Given the description of an element on the screen output the (x, y) to click on. 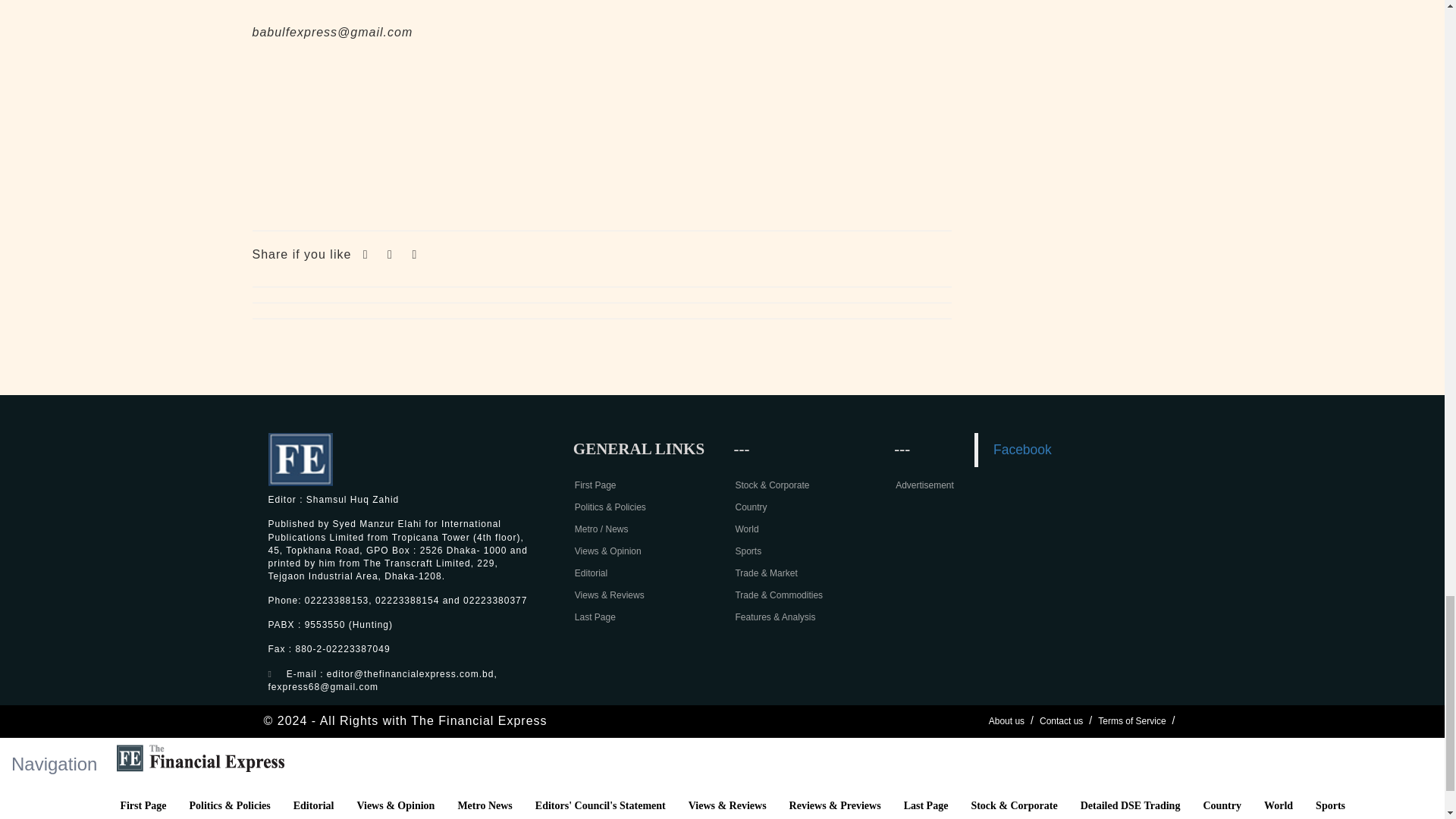
Advertisement (601, 139)
First Page (595, 484)
